Given the description of an element on the screen output the (x, y) to click on. 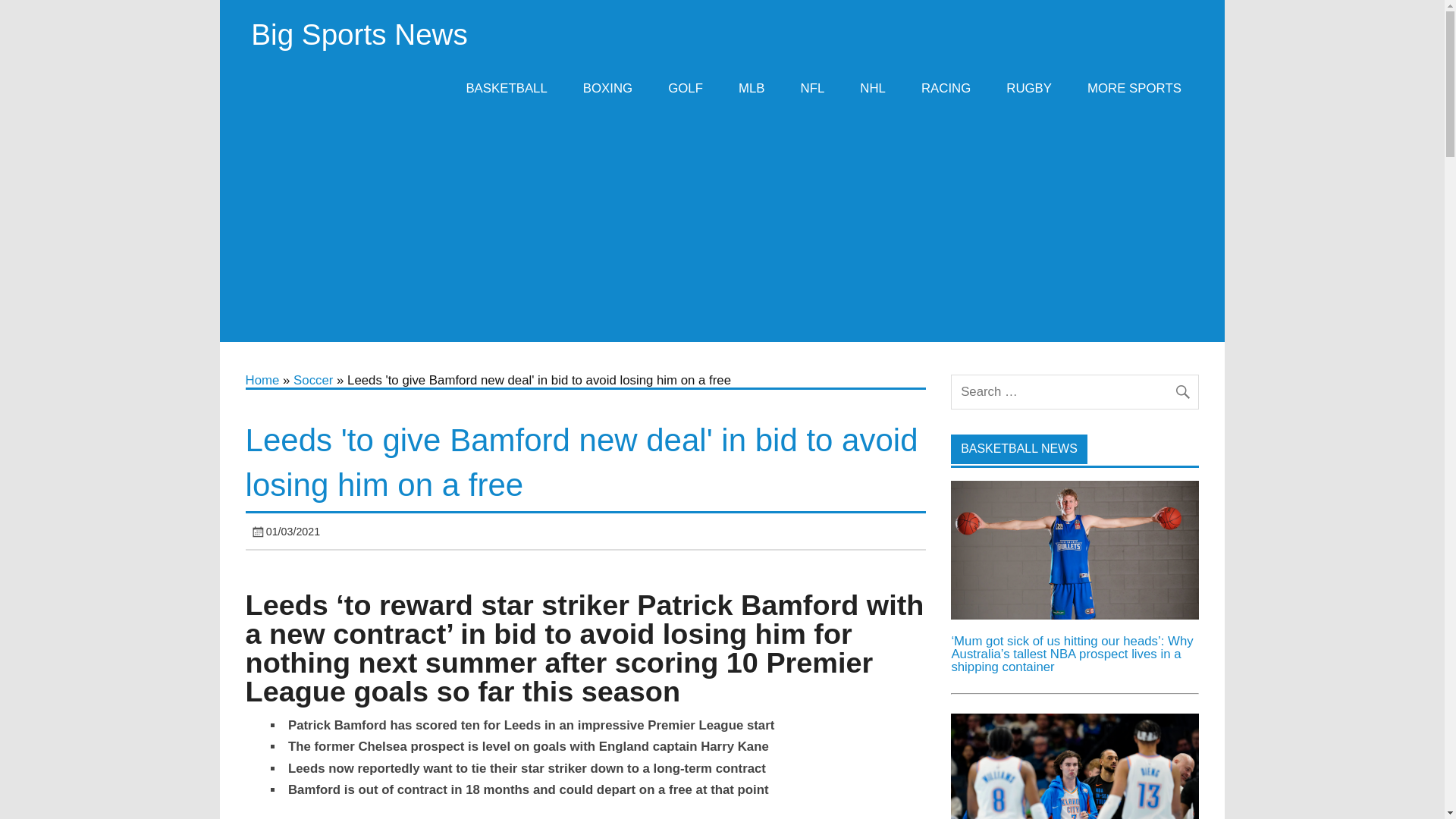
Big Sports News (358, 34)
NFL (813, 88)
Home (262, 380)
BASKETBALL (506, 88)
MORE SPORTS (1134, 88)
RUGBY (1029, 88)
GOLF (685, 88)
RACING (945, 88)
